Given the description of an element on the screen output the (x, y) to click on. 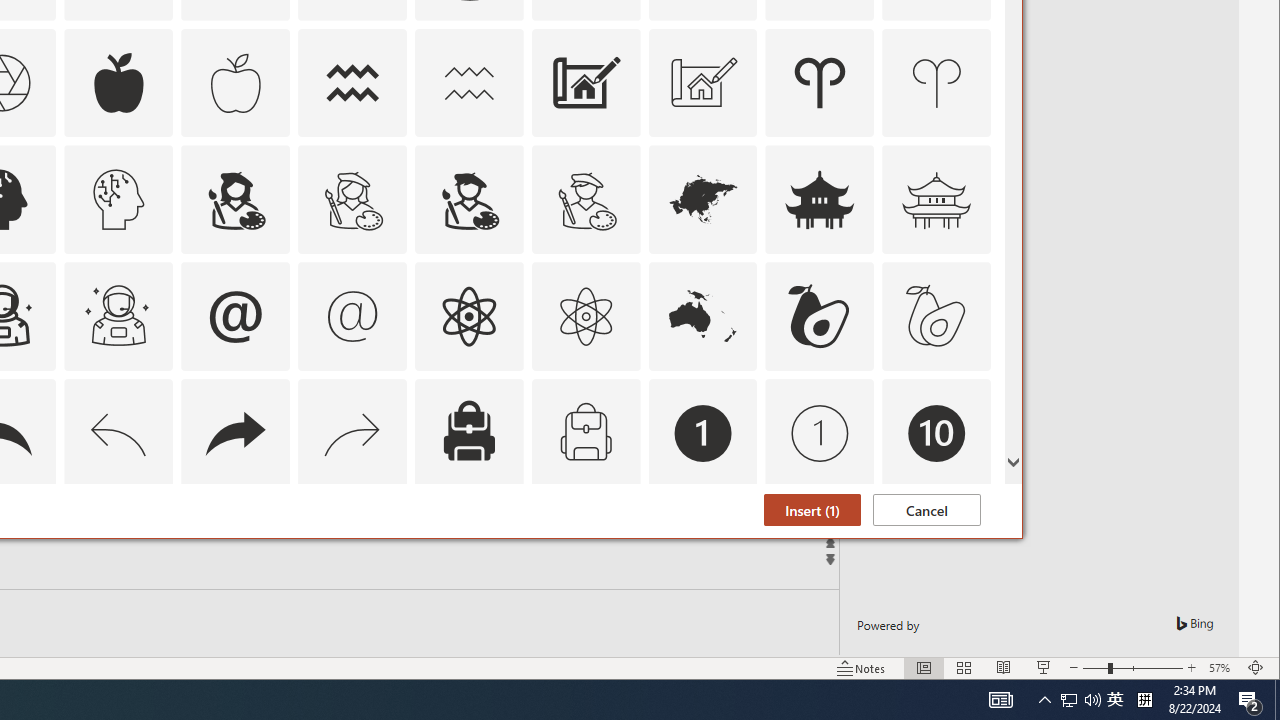
AutomationID: Icons_Back_RTL (235, 434)
AutomationID: Icons_Badge8_M (702, 550)
AutomationID: Icons_Avocado_M (936, 316)
AutomationID: Icons_Badge7 (353, 550)
AutomationID: Icons_Aries (819, 82)
AutomationID: Icons_Atom_M (586, 316)
